Given the description of an element on the screen output the (x, y) to click on. 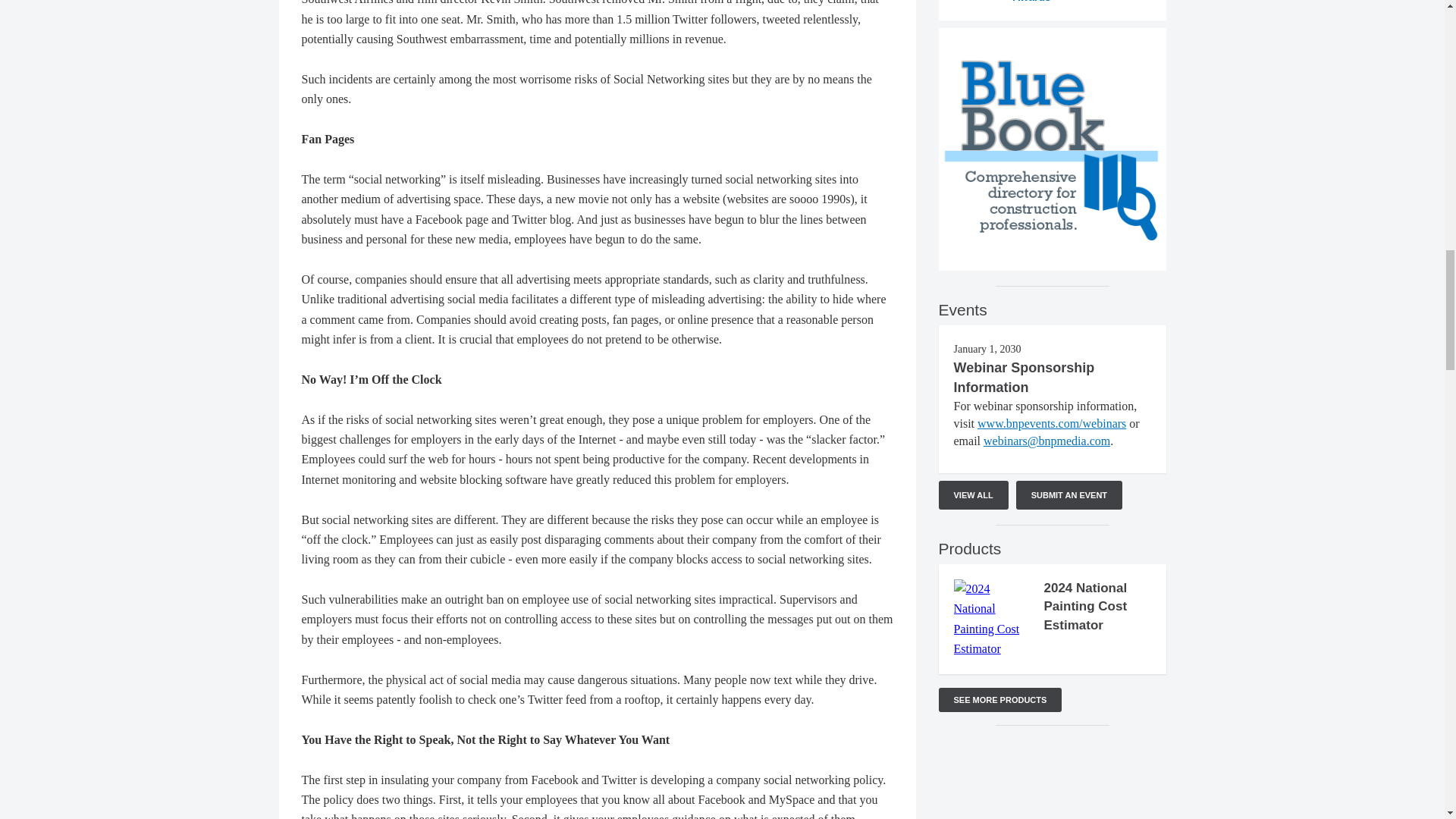
Interaction questions (1052, 780)
Webinar Sponsorship Information (1023, 377)
